Given the description of an element on the screen output the (x, y) to click on. 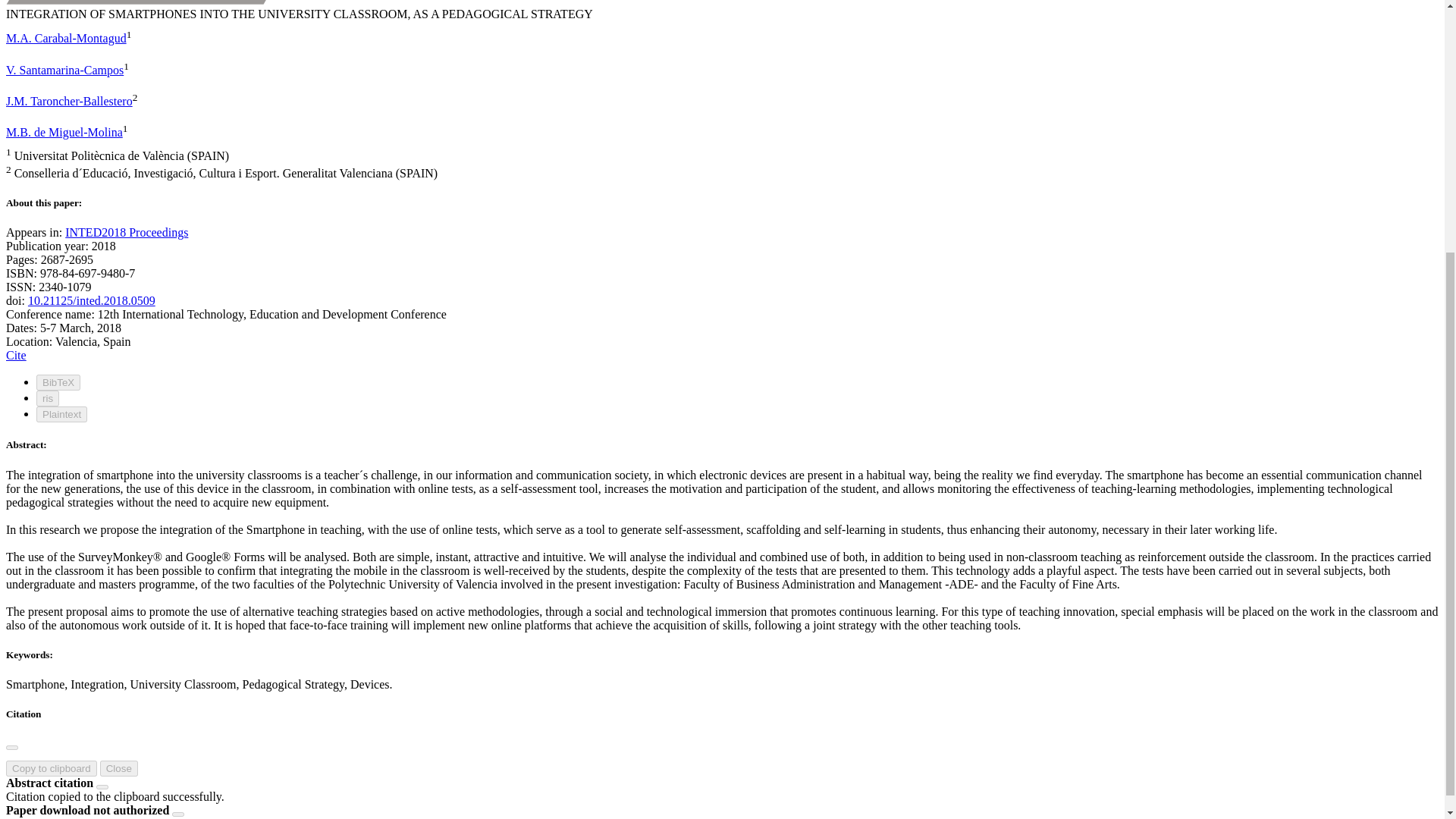
BibTeX (58, 382)
INTED2018 Proceedings (126, 232)
doi (91, 300)
M.A. Carabal-Montagud (65, 38)
Close (119, 768)
Plaintext (61, 414)
V. Santamarina-Campos (64, 69)
J.M. Taroncher-Ballestero (68, 101)
Copy to clipboard (51, 768)
Cite (15, 354)
